Given the description of an element on the screen output the (x, y) to click on. 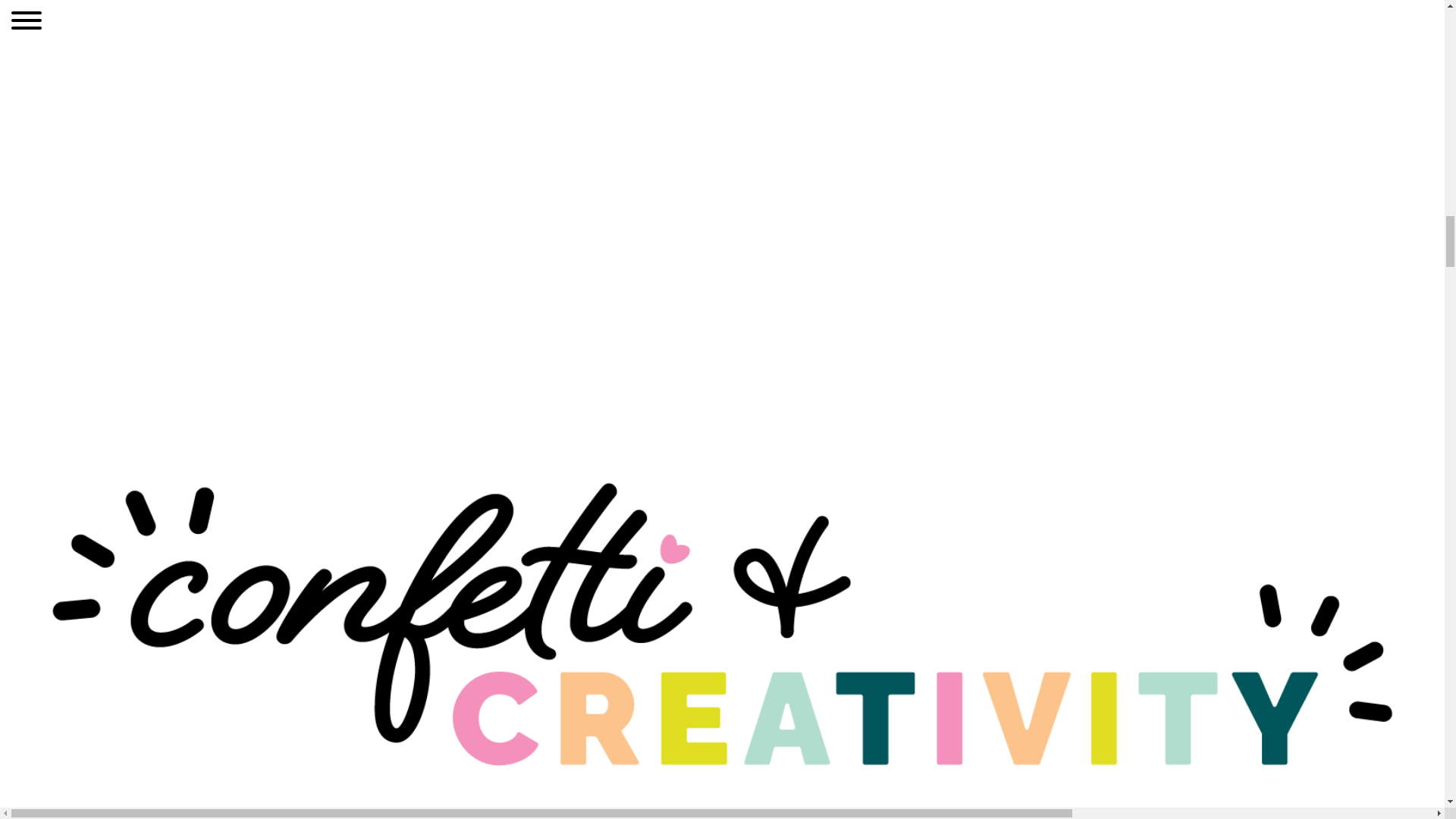
Google Slides (44, 676)
Decor Bundles (46, 639)
Google Slides (721, 536)
Resume Templates (60, 694)
FAQ (721, 597)
Freebies (34, 774)
Decor Bundles (721, 476)
About Me (33, 810)
FREEBIES (34, 774)
Holiday Decor (44, 657)
Best Sellers (721, 445)
Shop All (30, 755)
Shop All (30, 755)
Holiday Decor (721, 506)
